Given the description of an element on the screen output the (x, y) to click on. 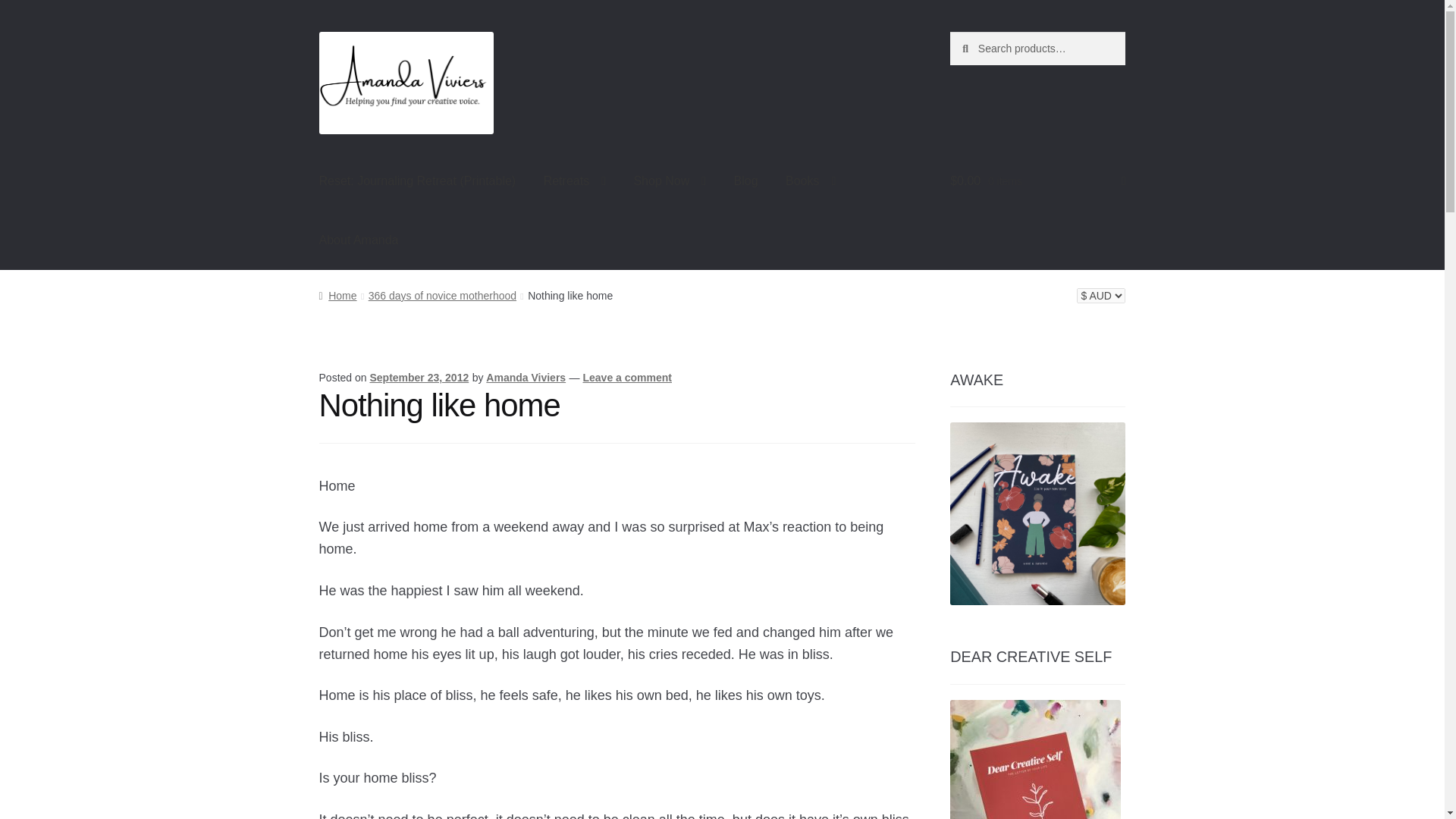
AWAKE (1037, 513)
Retreats (574, 180)
About Amanda (358, 240)
DEAR CREATIVE SELF (1035, 759)
Shop Now (669, 180)
View your shopping cart (1037, 180)
Books (810, 180)
